Given the description of an element on the screen output the (x, y) to click on. 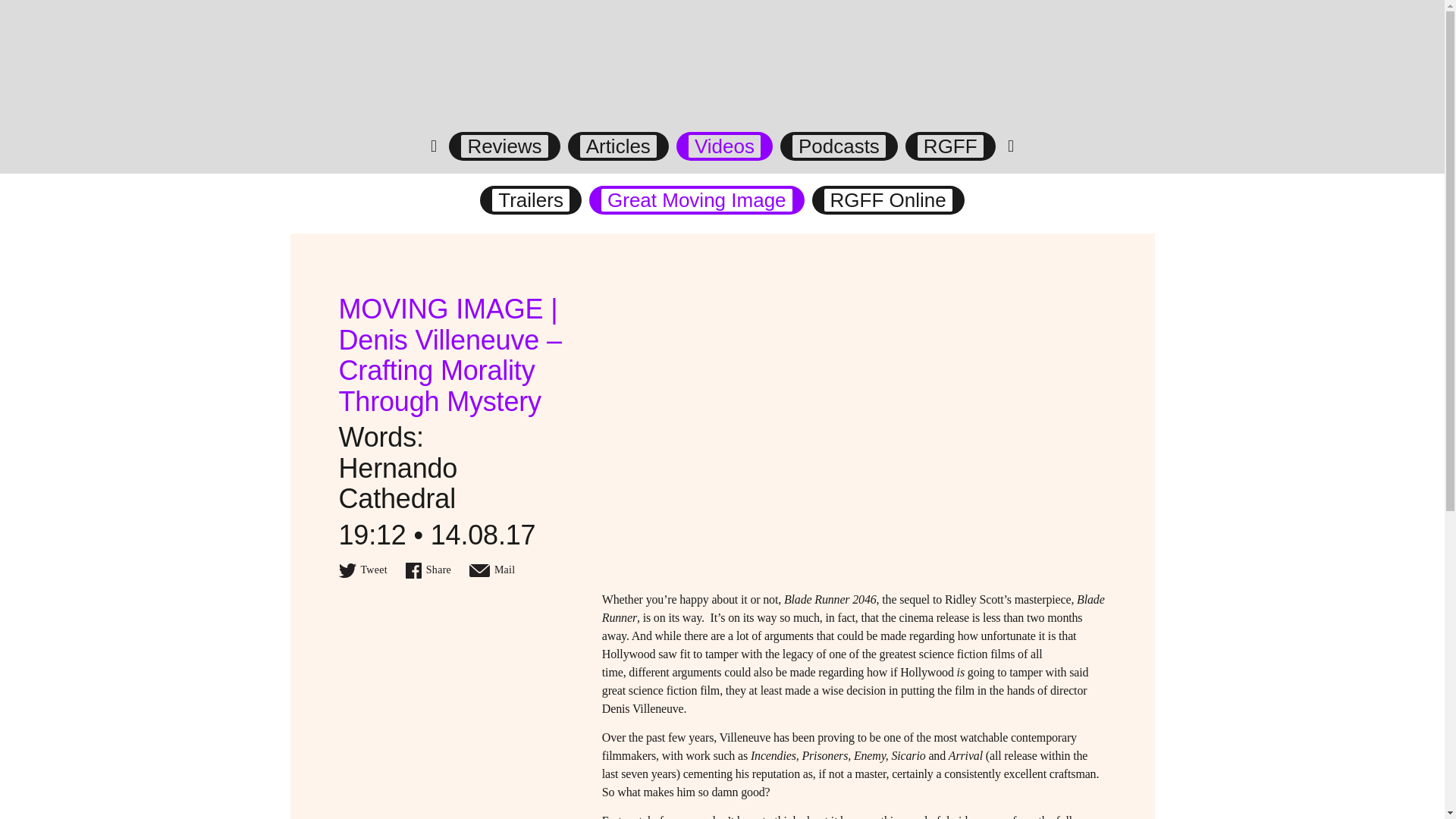
REEL GOOD (722, 78)
Twitter (362, 570)
Podcasts (838, 146)
RGFF (950, 146)
Email (491, 570)
Articles (617, 146)
RGFF Online (888, 200)
Hernando Cathedral (397, 483)
Facebook (428, 570)
Trailers (530, 200)
Videos (724, 146)
Great Moving Image (696, 200)
Reviews (504, 146)
